Given the description of an element on the screen output the (x, y) to click on. 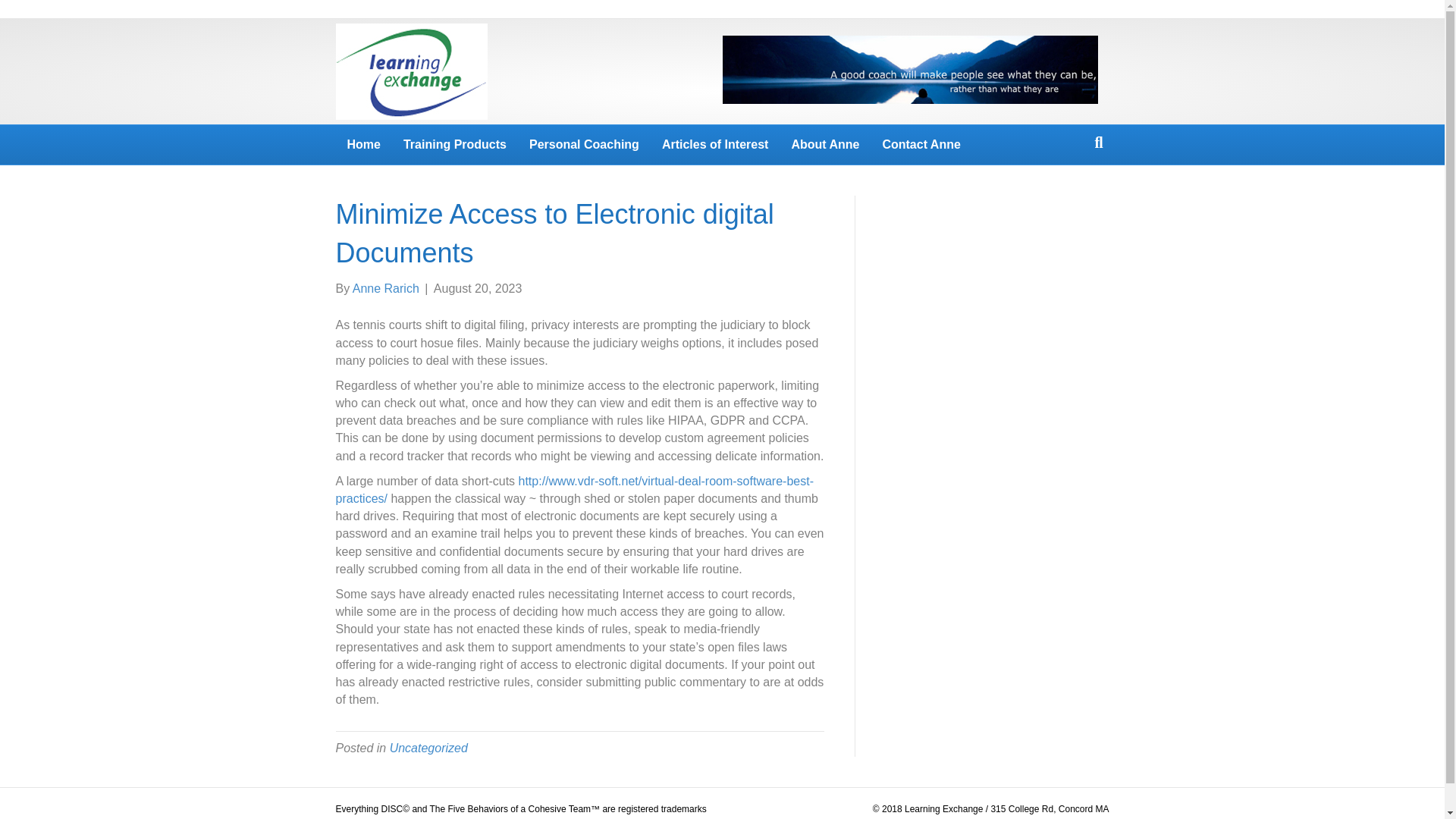
Contact Anne (920, 144)
Anne Rarich (385, 287)
Home (362, 144)
Website by Concord Web Builders (1039, 818)
Articles of Interest (714, 144)
About Anne (824, 144)
Training Products (454, 144)
Uncategorized (428, 748)
Personal Coaching (584, 144)
